Given the description of an element on the screen output the (x, y) to click on. 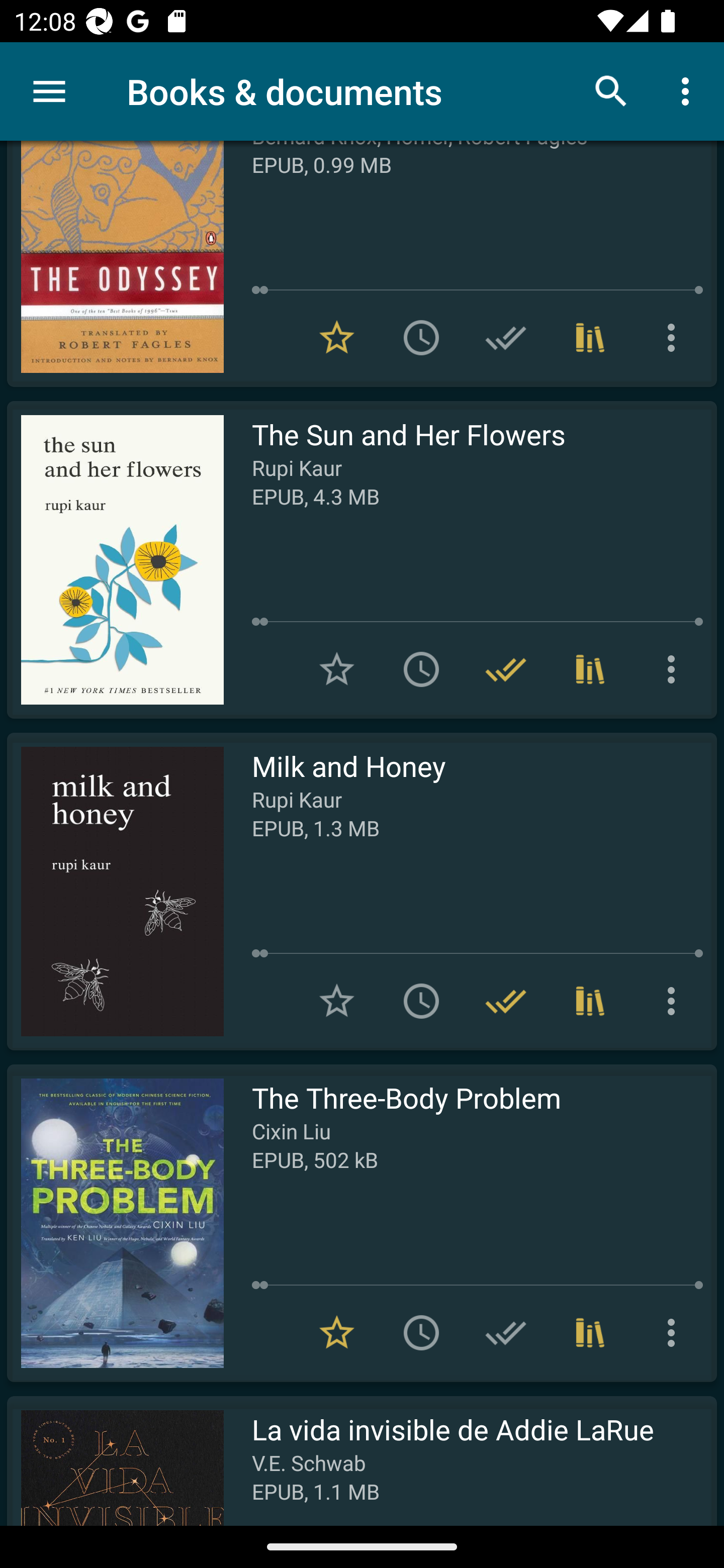
Menu (49, 91)
Search books & documents (611, 90)
More options (688, 90)
Read The Odyssey (115, 264)
Remove from Favorites (336, 336)
Add to To read (421, 336)
Add to Have read (505, 336)
Collections (2) (590, 336)
More options (674, 336)
Read The Sun and Her Flowers (115, 559)
Add to Favorites (336, 669)
Add to To read (421, 669)
Remove from Have read (505, 669)
Collections (1) (590, 669)
More options (674, 669)
Read Milk and Honey (115, 891)
Add to Favorites (336, 1000)
Add to To read (421, 1000)
Remove from Have read (505, 1000)
Collections (2) (590, 1000)
More options (674, 1000)
Read The Three-Body Problem (115, 1222)
Remove from Favorites (336, 1332)
Add to To read (421, 1332)
Add to Have read (505, 1332)
Collections (1) (590, 1332)
More options (674, 1332)
